Given the description of an element on the screen output the (x, y) to click on. 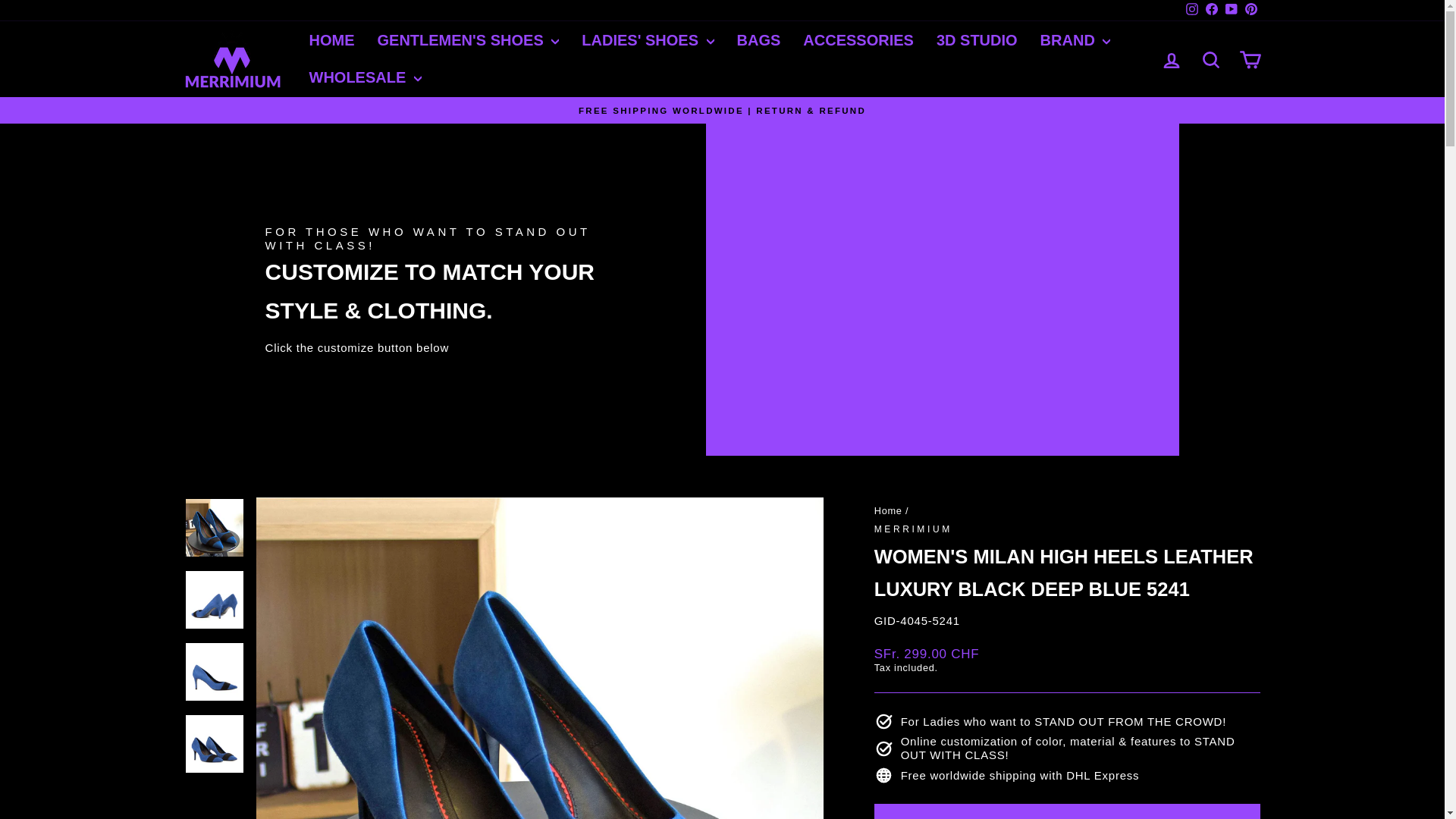
ICON-SEARCH (1210, 59)
MERRIMIUM (913, 529)
MERRIMIUM on Facebook (1211, 10)
MERRIMIUM on YouTube (1230, 10)
instagram (1192, 9)
ACCOUNT (1170, 60)
MERRIMIUM on Pinterest (1250, 10)
Back to the frontpage (888, 510)
MERRIMIUM on Instagram (1190, 10)
